Given the description of an element on the screen output the (x, y) to click on. 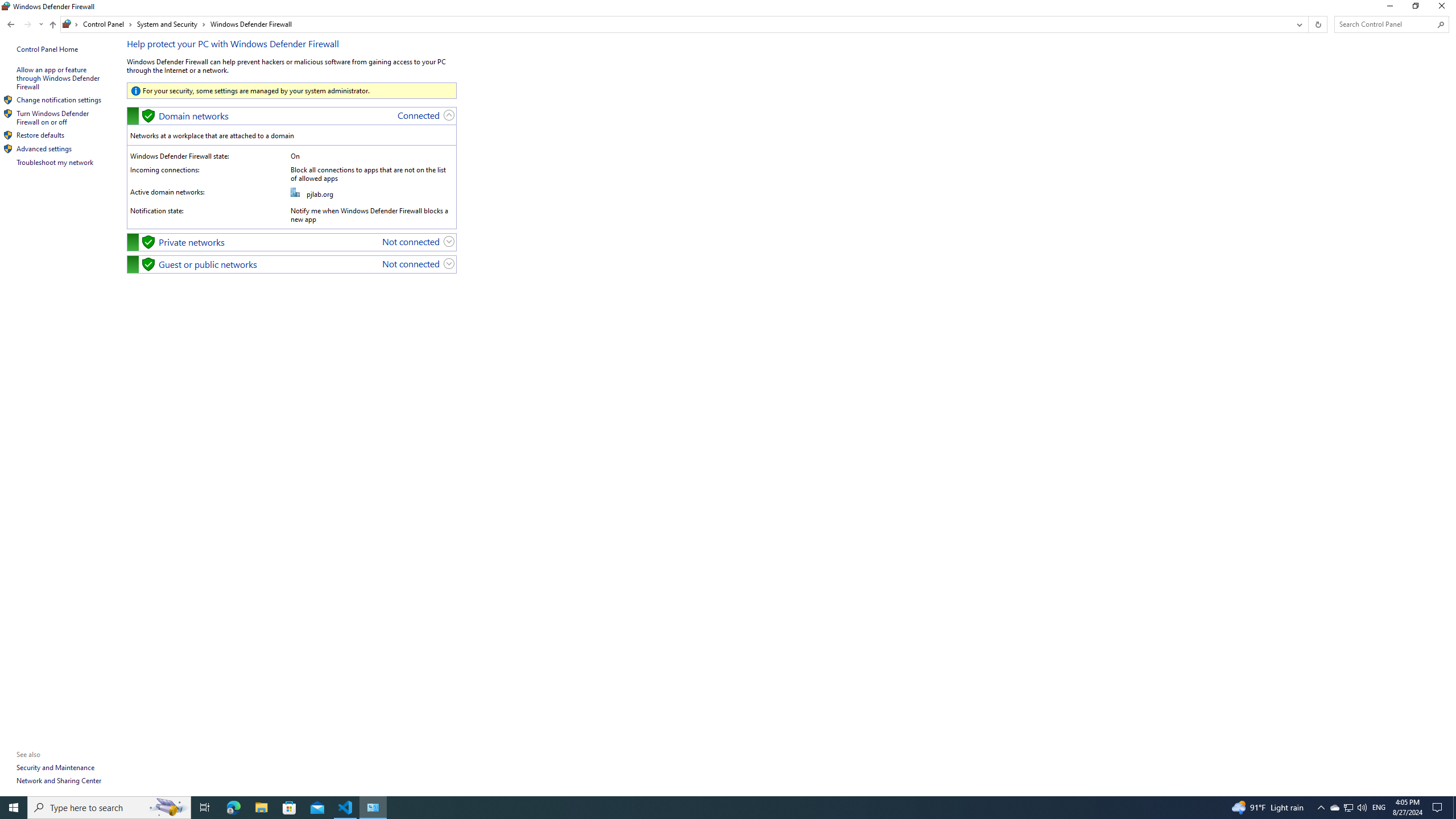
Control Panel - 1 running window (373, 807)
Security and Maintenance (56, 767)
Advanced settings (1333, 807)
All locations (44, 148)
Icon (70, 23)
Minimize (7, 148)
Tray Input Indicator - English (United States) (1388, 8)
Control Panel Home (1378, 807)
Allow an app or feature through Windows Defender Firewall (47, 49)
Connected (58, 77)
User Promoted Notification Area (418, 114)
Type here to search (1347, 807)
